Given the description of an element on the screen output the (x, y) to click on. 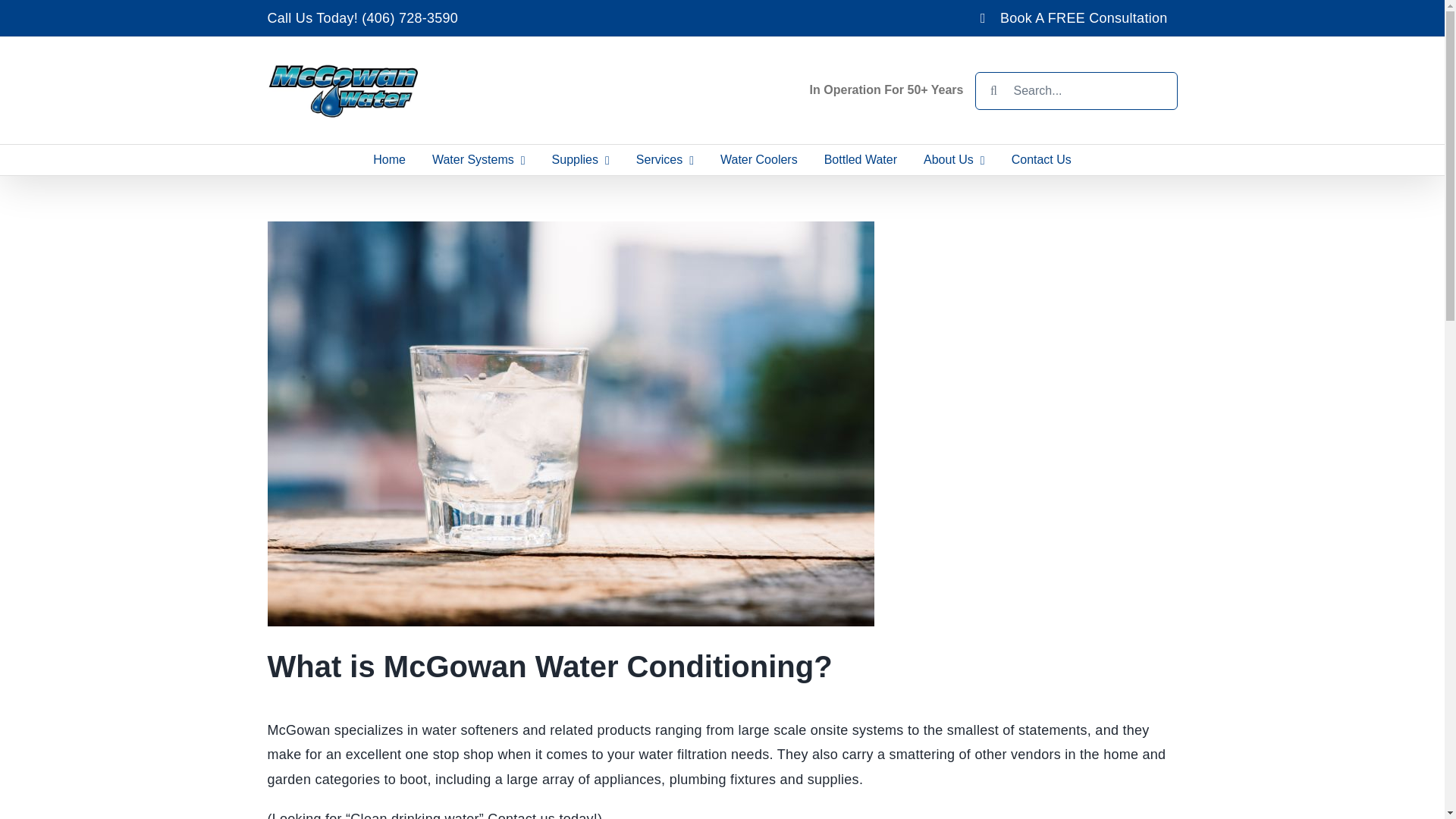
About Us (954, 159)
Services (664, 159)
Water Systems (478, 159)
Water Coolers (758, 159)
Home (389, 159)
Book A FREE Consultation (1074, 18)
Supplies (580, 159)
Contact Us (1040, 159)
Bottled Water (860, 159)
